Given the description of an element on the screen output the (x, y) to click on. 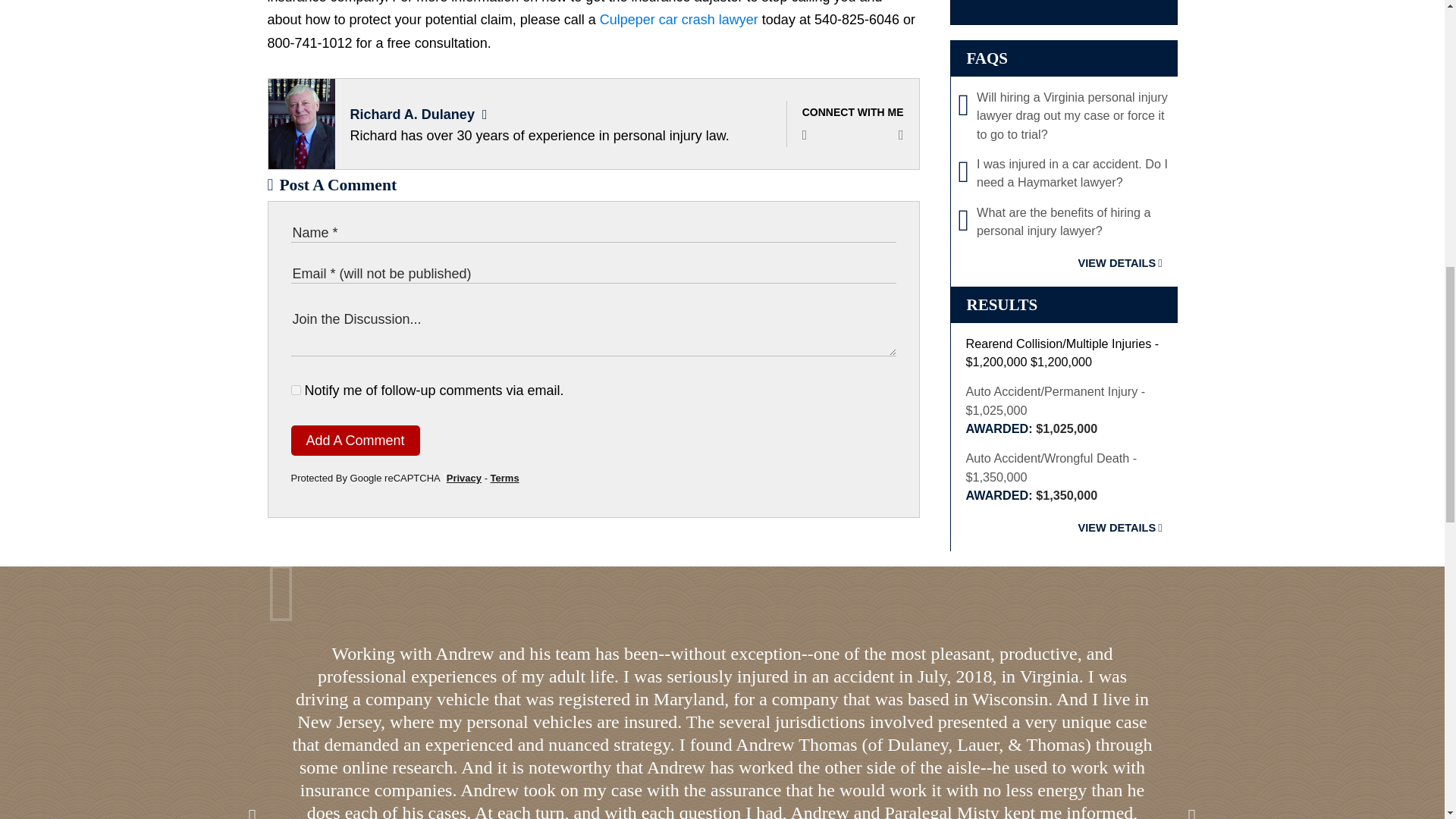
Add A Comment (355, 440)
Richard A. Dulaney (412, 114)
Privacy (463, 478)
Terms (504, 478)
Culpeper car crash lawyer (678, 19)
1 (296, 389)
